Given the description of an element on the screen output the (x, y) to click on. 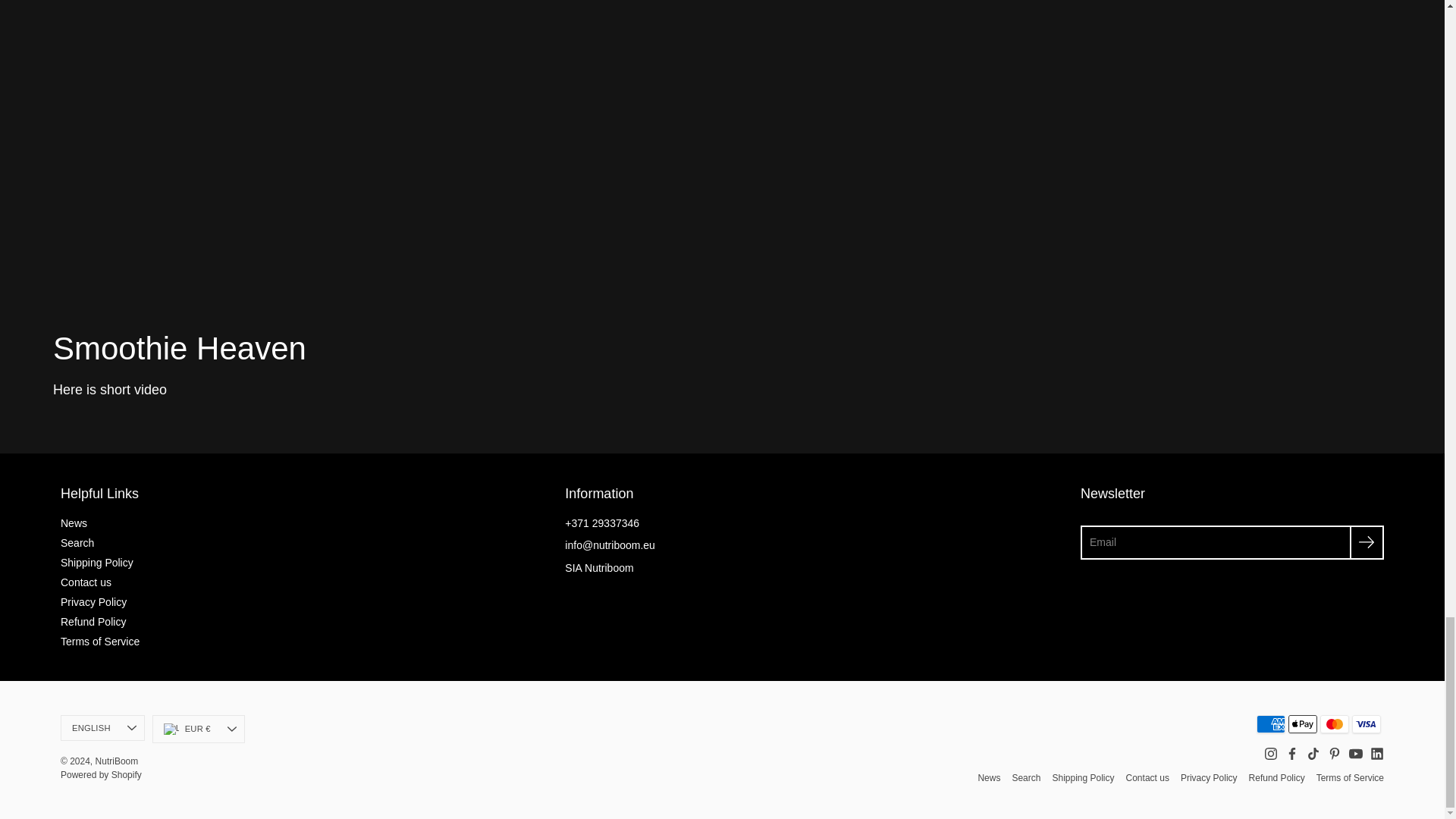
American Express (1270, 723)
Mastercard (1334, 723)
Apple Pay (1302, 723)
Visa (1366, 723)
